Given the description of an element on the screen output the (x, y) to click on. 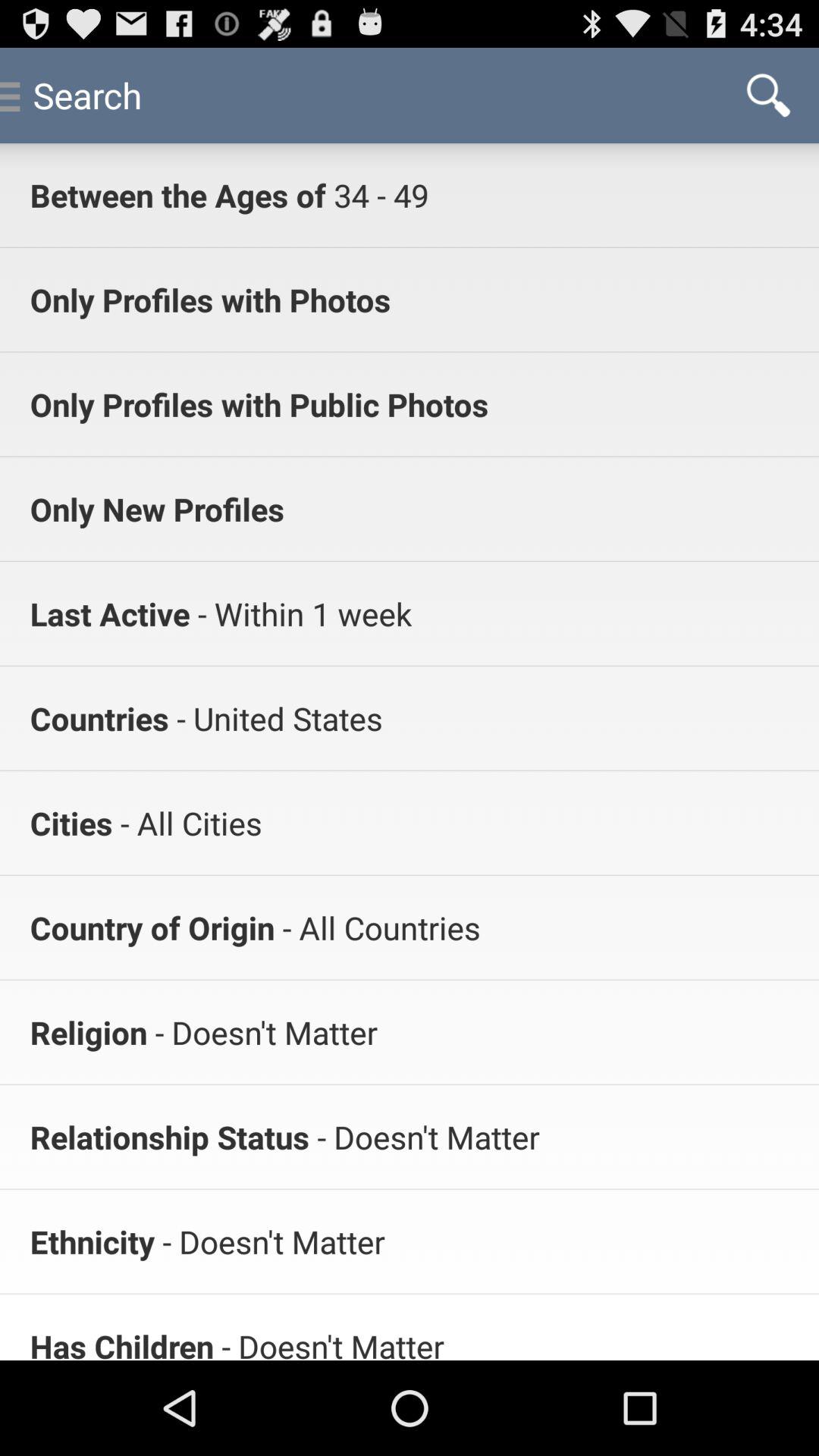
choose the app below countries item (187, 822)
